Given the description of an element on the screen output the (x, y) to click on. 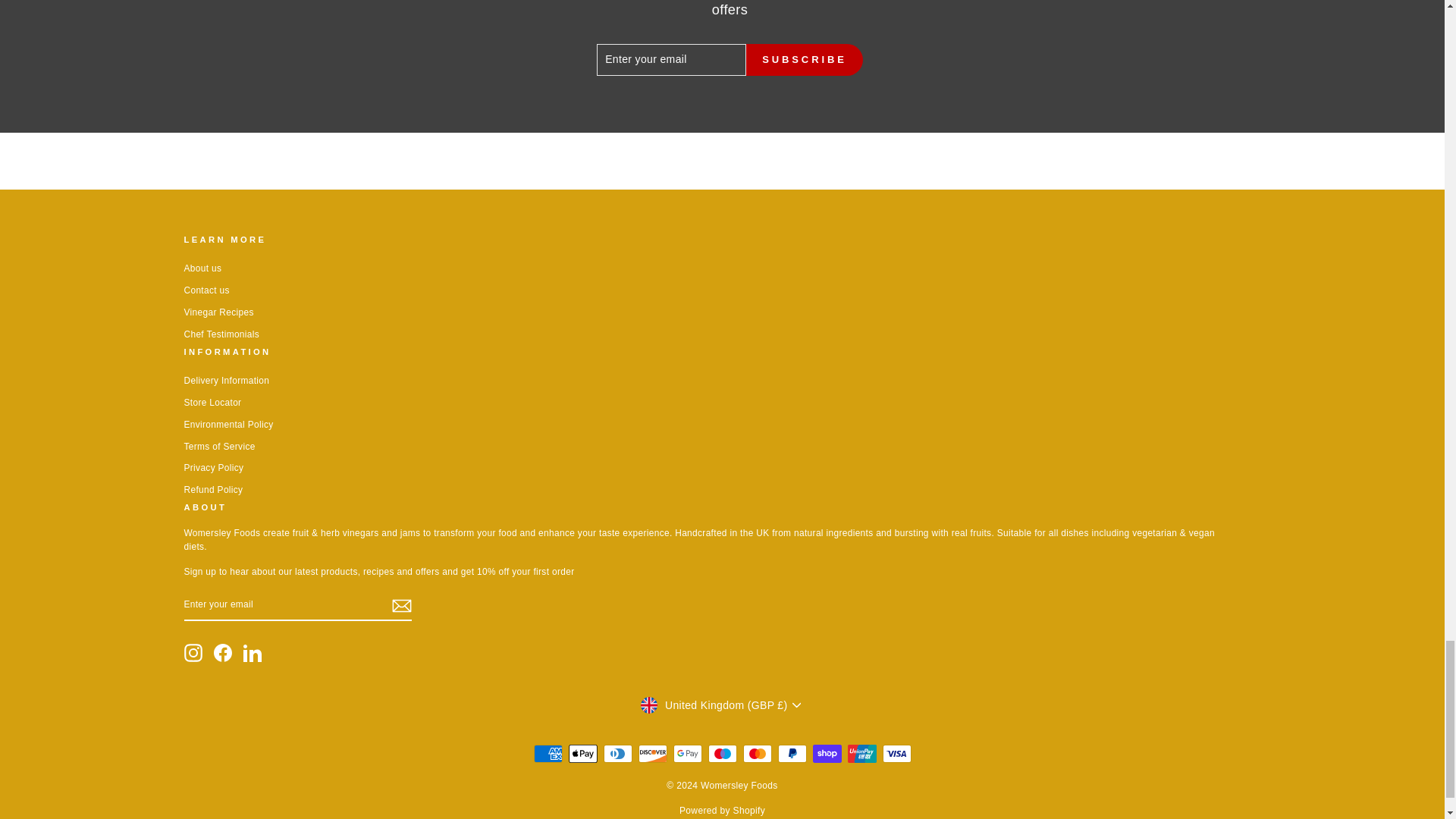
Womersley Foods on LinkedIn (251, 652)
icon-email (400, 606)
Womersley Foods on Instagram (192, 652)
Womersley Foods on Facebook (222, 652)
instagram (192, 652)
